Given the description of an element on the screen output the (x, y) to click on. 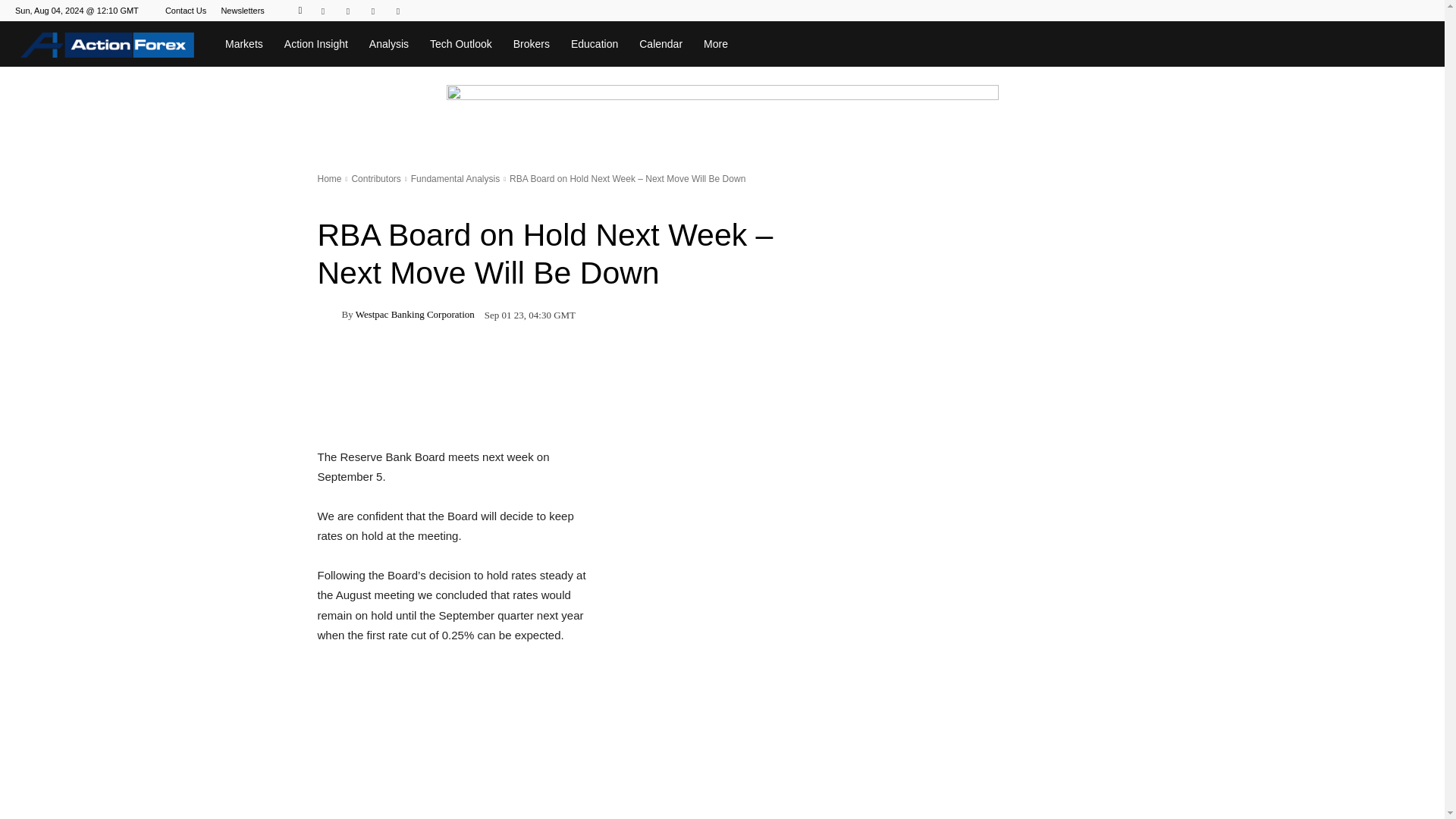
RSS (372, 10)
Action Forex (106, 44)
Facebook (322, 10)
Twitter (398, 10)
Mail (347, 10)
